Given the description of an element on the screen output the (x, y) to click on. 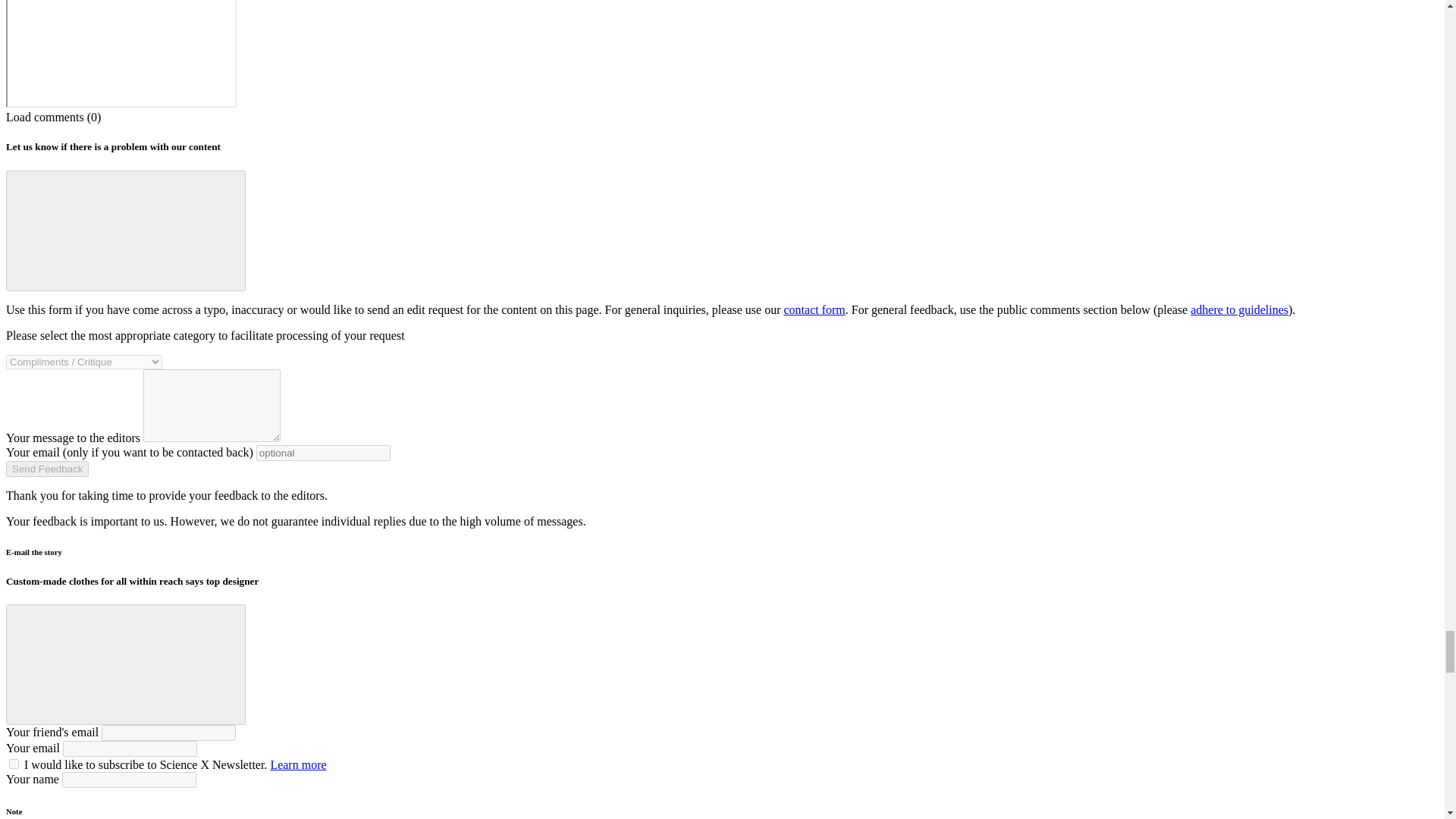
1 (13, 764)
